Given the description of an element on the screen output the (x, y) to click on. 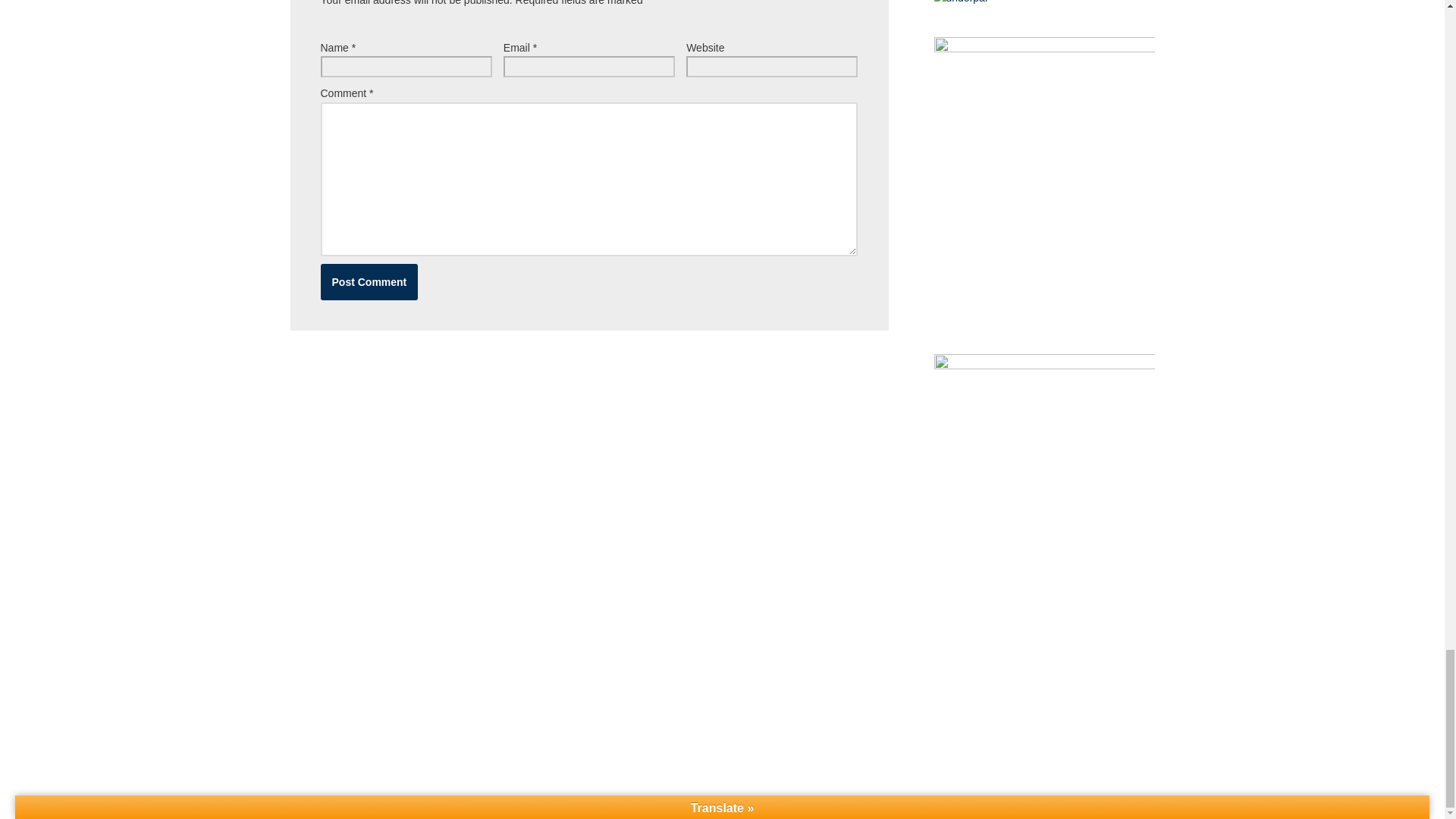
Post Comment (368, 281)
